Given the description of an element on the screen output the (x, y) to click on. 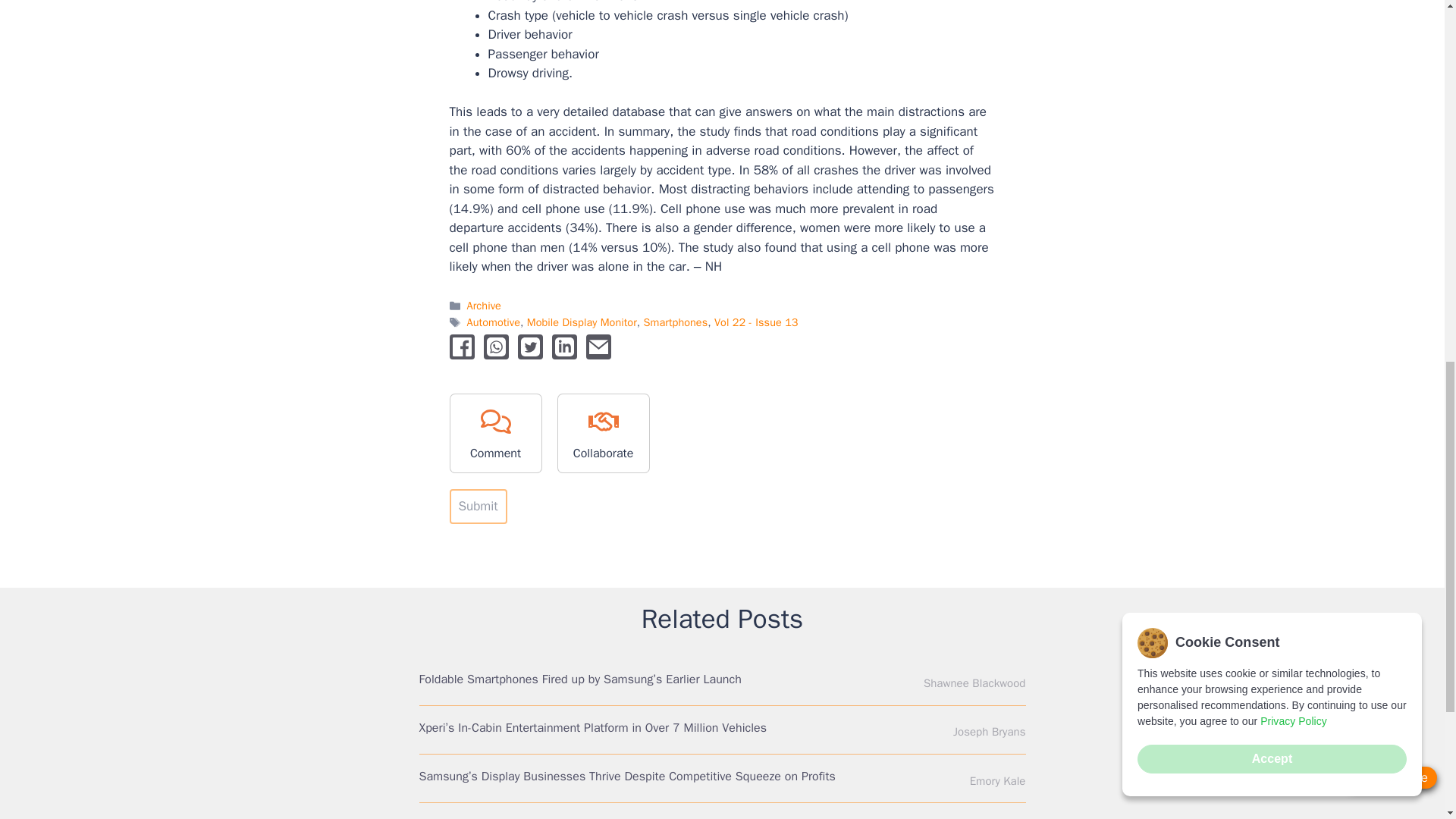
Vol 22 - Issue 13 (755, 322)
Submit (477, 506)
Archive (483, 305)
Smartphones (675, 322)
Automotive (493, 322)
Mobile Display Monitor (582, 322)
